Given the description of an element on the screen output the (x, y) to click on. 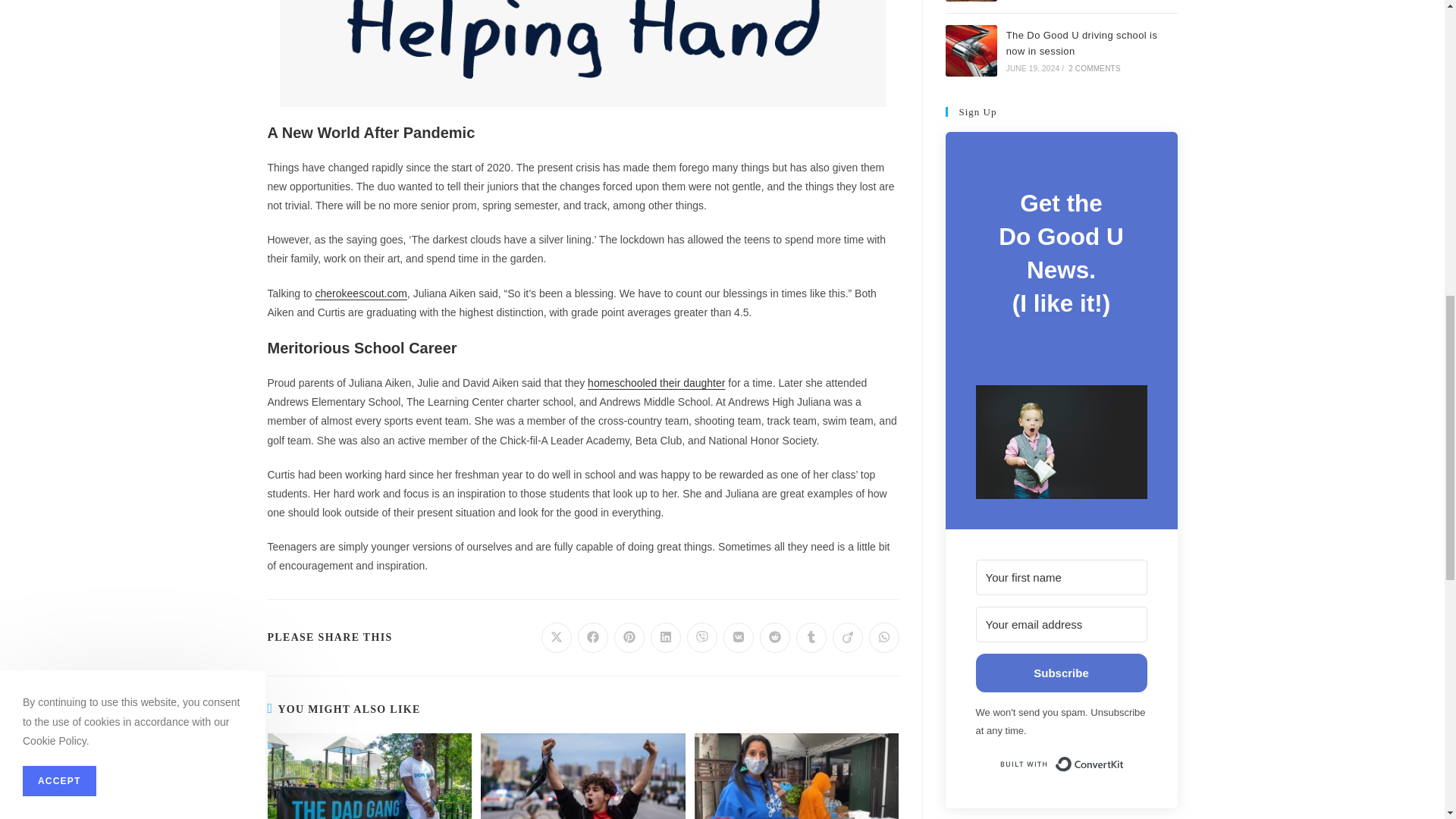
homeschooled their daughter (656, 382)
The Do Good U driving school is now in session (969, 50)
cherokeescout.com (361, 293)
The liberalism dilemma (969, 0)
